Given the description of an element on the screen output the (x, y) to click on. 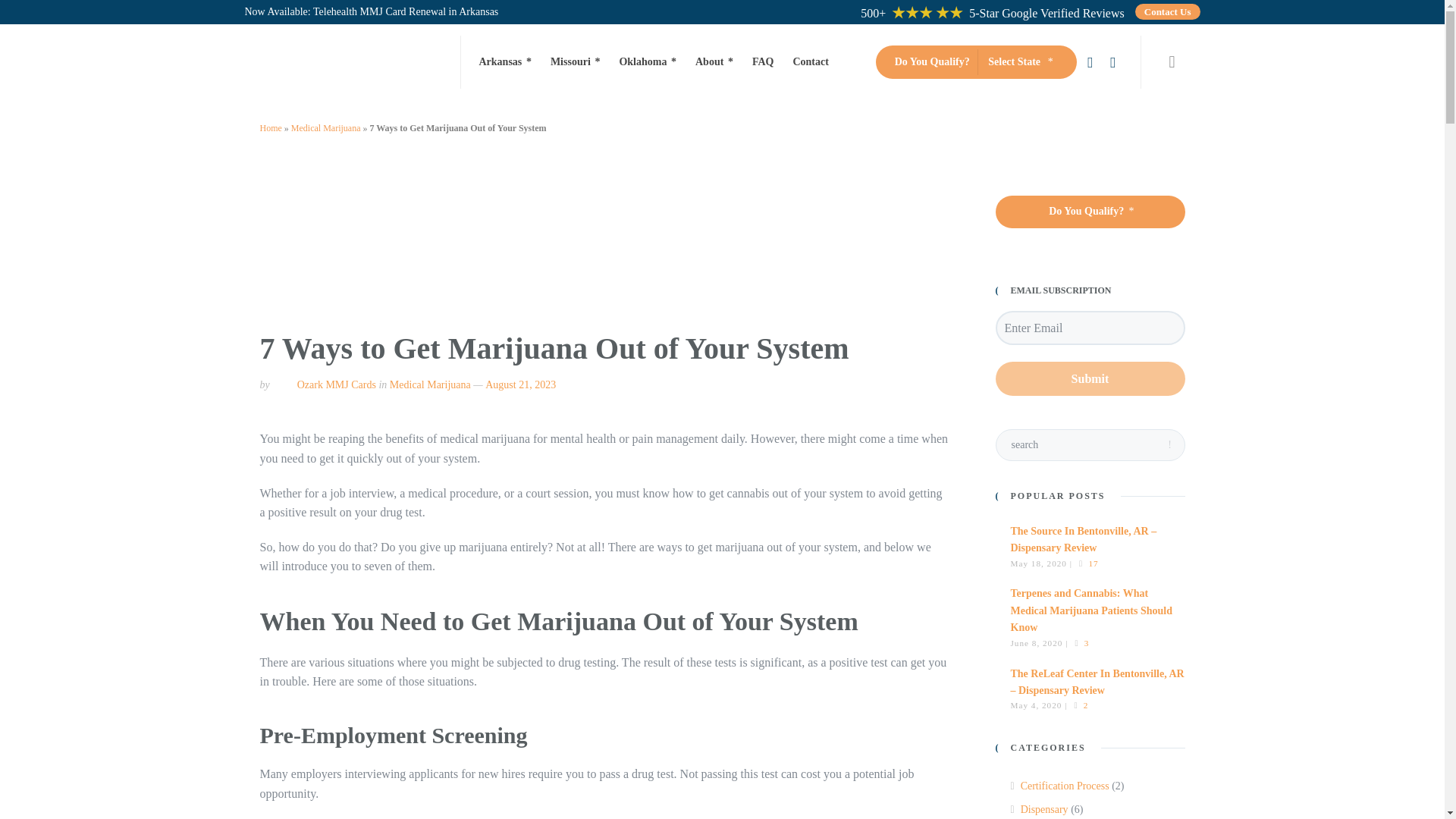
Submit (1089, 378)
About (713, 62)
Oklahoma (647, 62)
Arkansas (510, 62)
Contact Us (1167, 11)
Posts by Ozark MMJ Cards (336, 384)
Missouri (575, 62)
OZARK MMJ CARDS (350, 62)
Enlarge Image (605, 252)
